Given the description of an element on the screen output the (x, y) to click on. 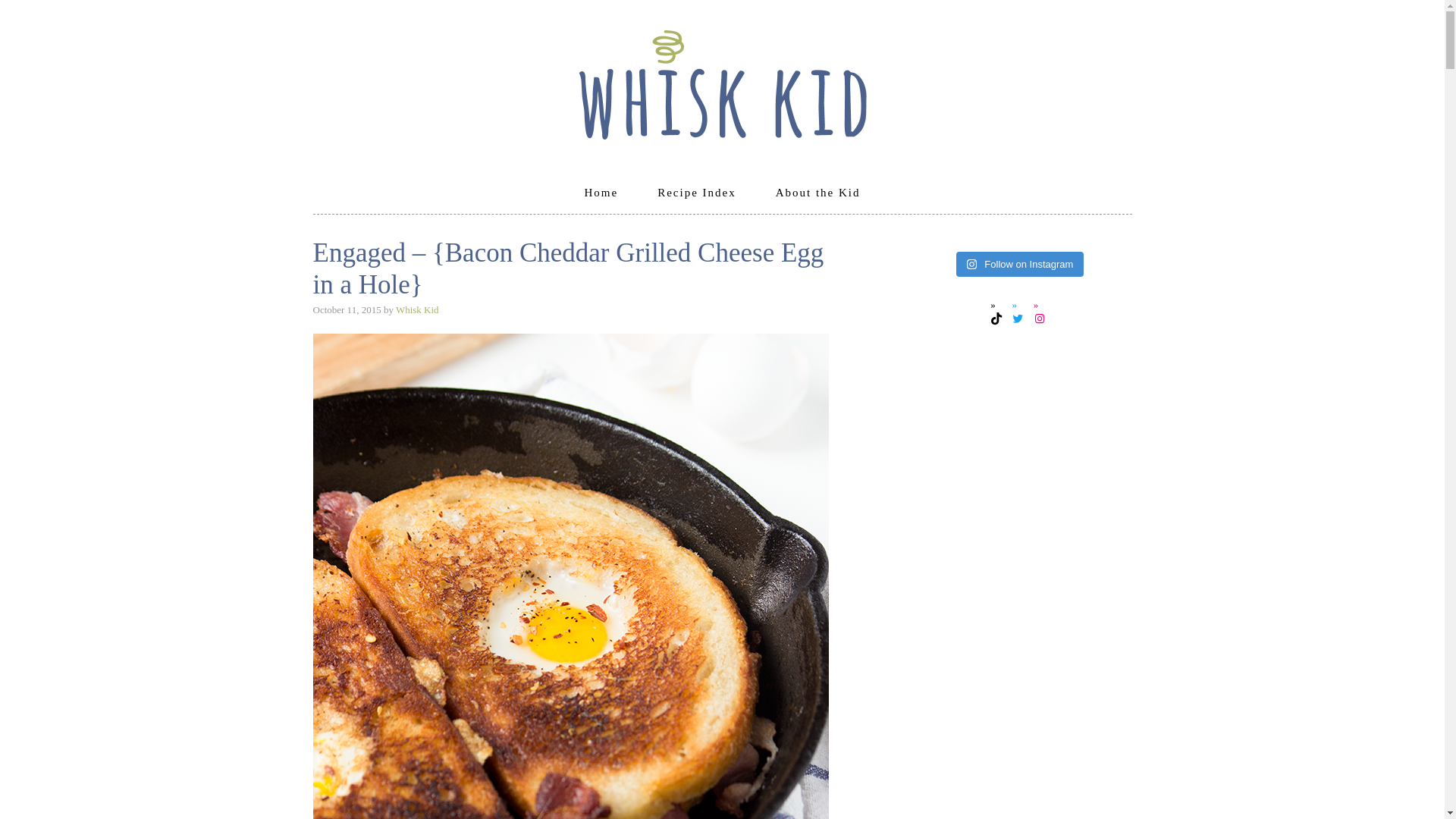
WHISK KID (722, 77)
Recipe Index (697, 192)
Whisk Kid (417, 309)
About the Kid (818, 192)
Home (600, 192)
